Given the description of an element on the screen output the (x, y) to click on. 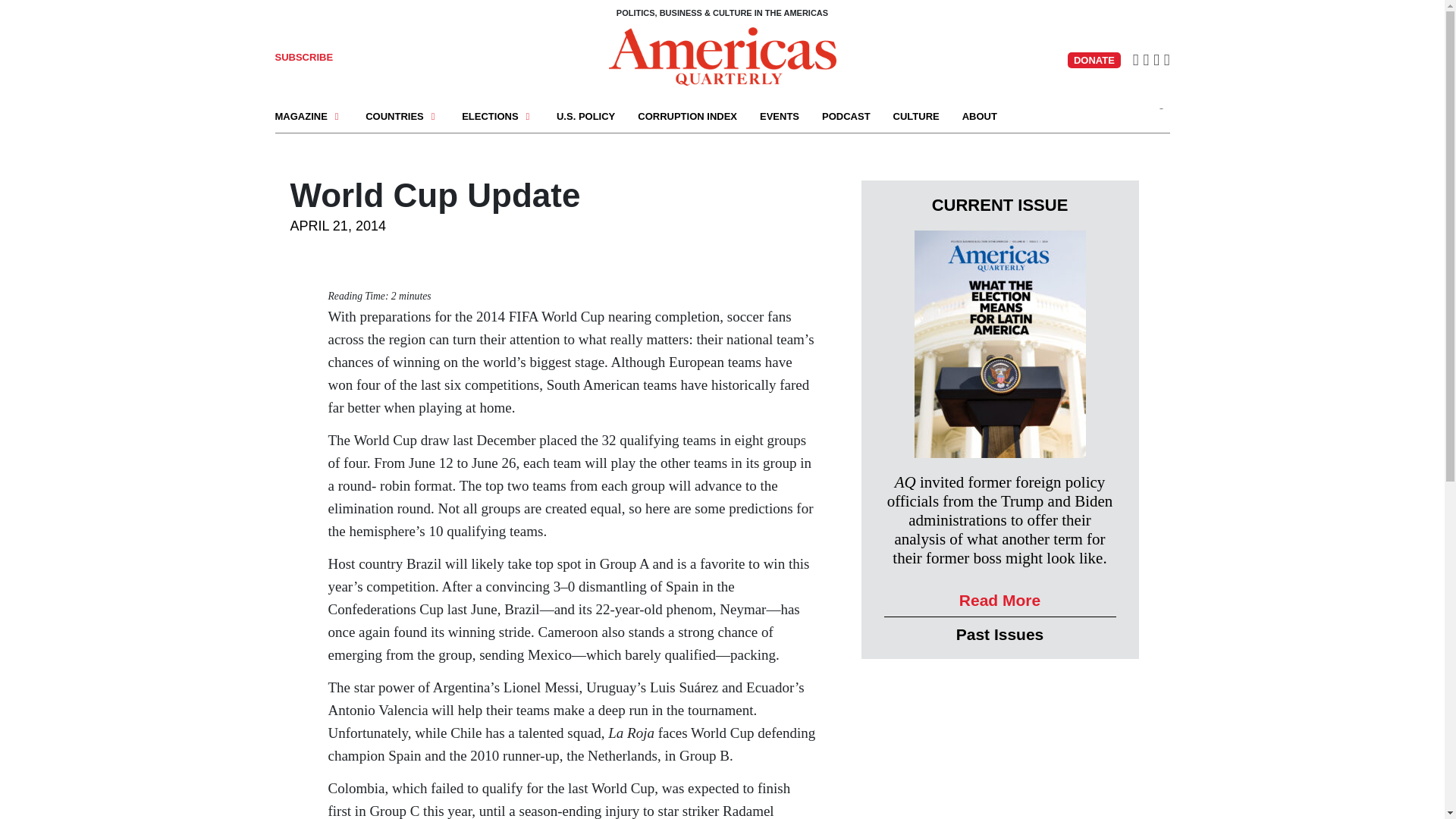
DONATE (1094, 59)
SUBSCRIBE (304, 57)
Americas Quarterly (721, 56)
Americas Quarterly (721, 54)
